Given the description of an element on the screen output the (x, y) to click on. 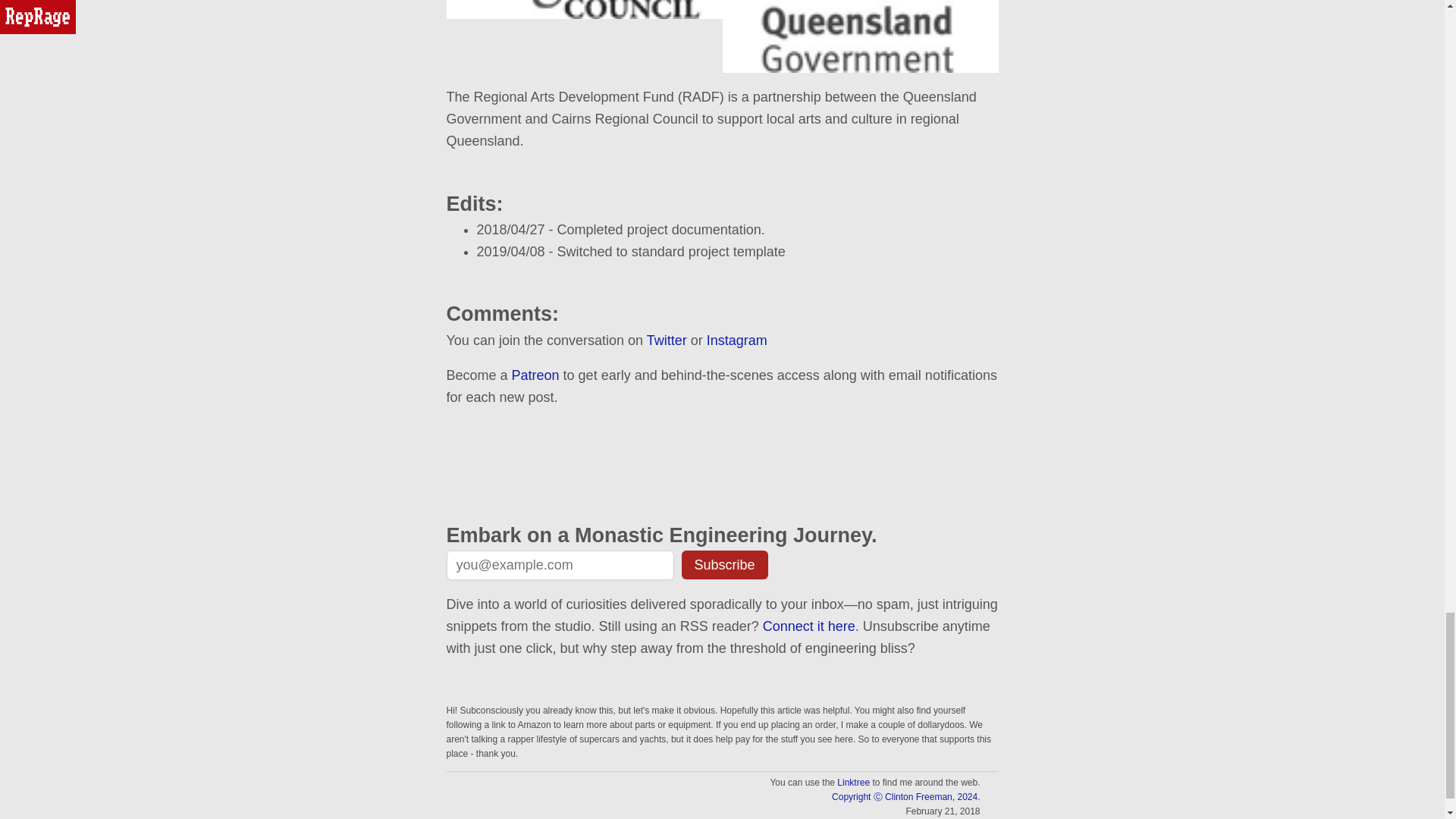
Connect it here (809, 626)
Instagram (736, 340)
Twitter (666, 340)
Subscribe (724, 564)
Patreon (535, 375)
Linktree (853, 782)
